Given the description of an element on the screen output the (x, y) to click on. 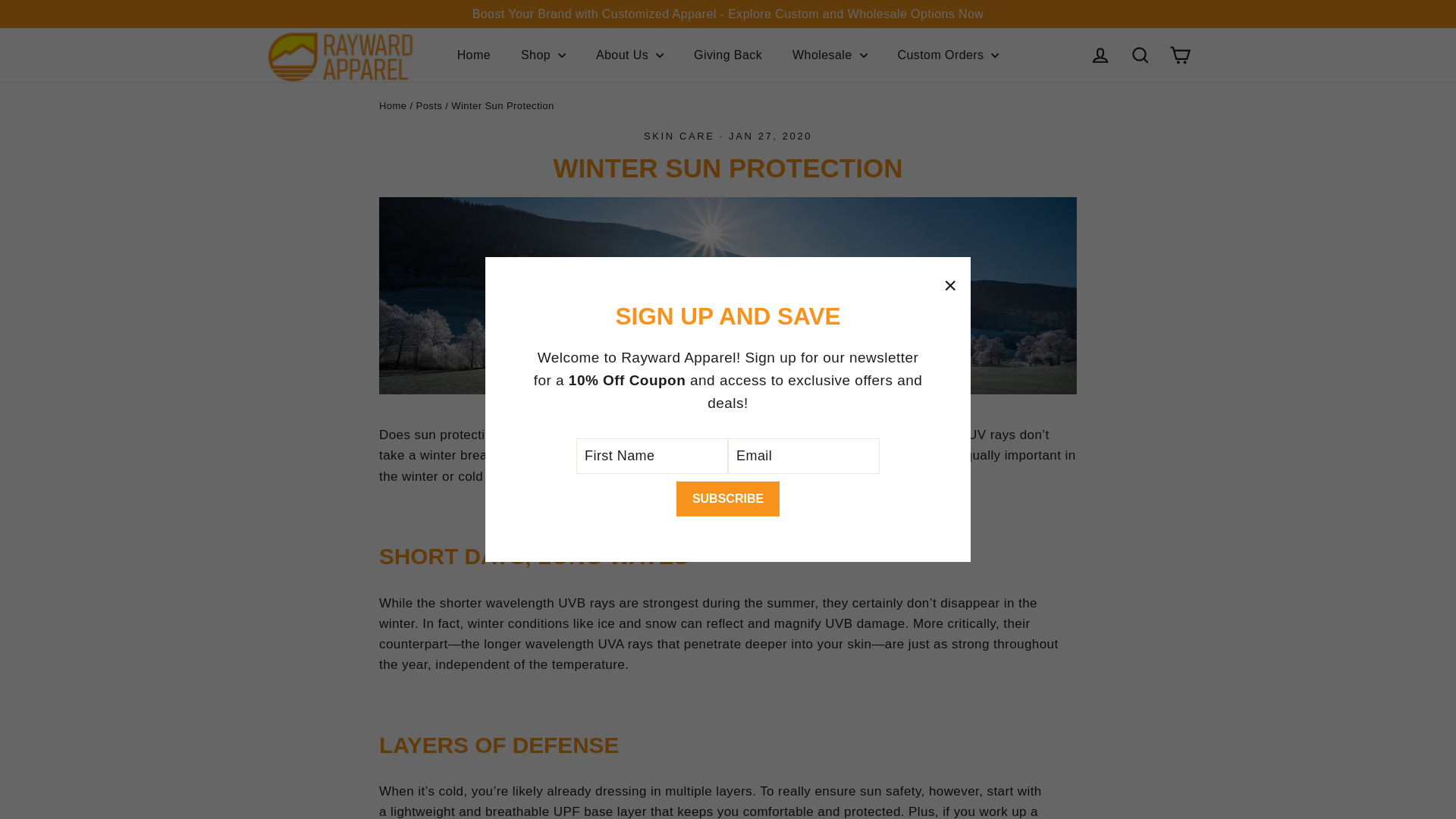
icon-search (1140, 55)
icon-X (949, 285)
icon-cart (1180, 55)
account (1099, 55)
Back to the frontpage (392, 105)
Home (473, 54)
